Given the description of an element on the screen output the (x, y) to click on. 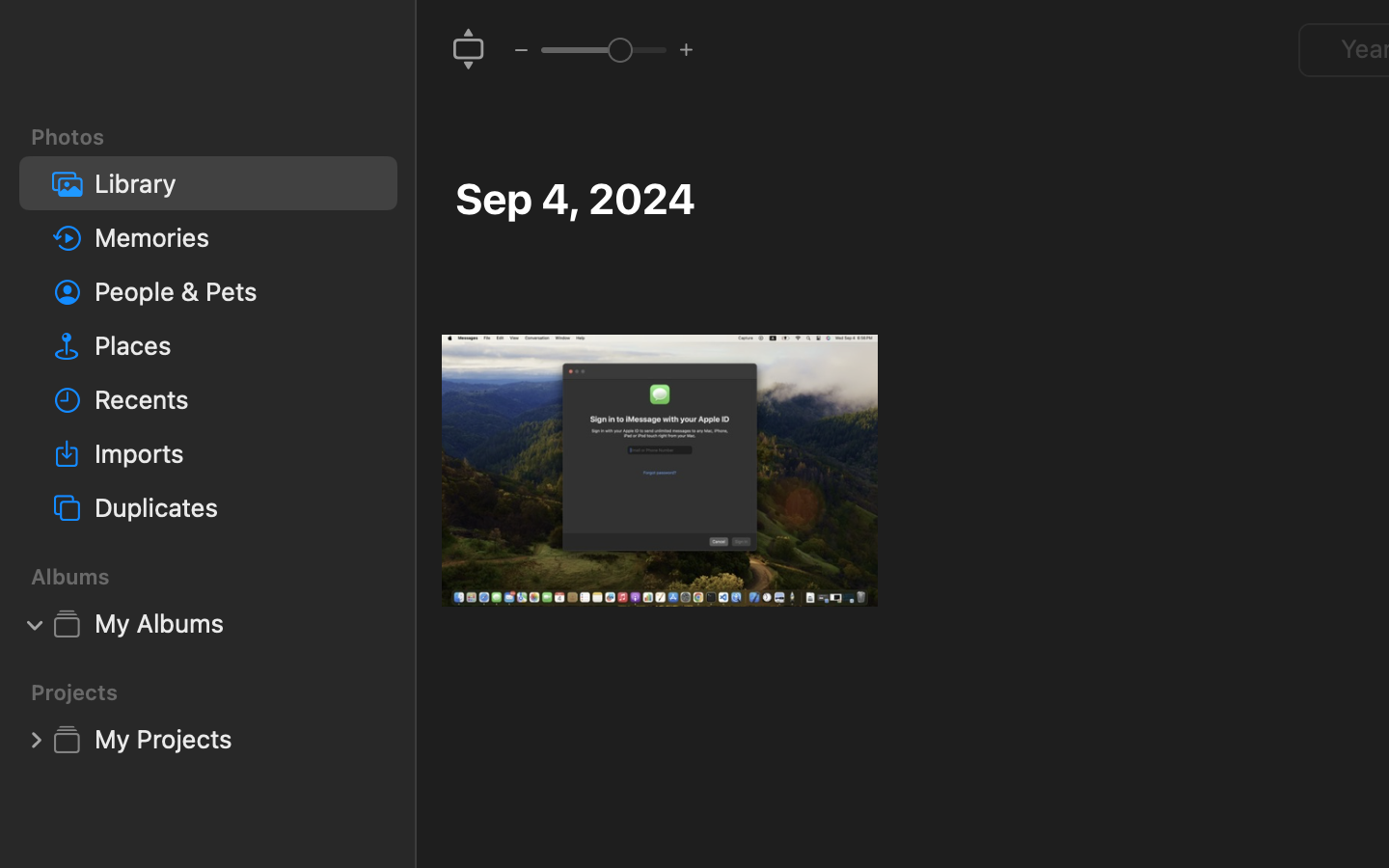
Projects Element type: AXStaticText (219, 691)
Albums Element type: AXStaticText (219, 576)
Memories Element type: AXStaticText (237, 236)
Library Element type: AXStaticText (237, 182)
1 Element type: AXDisclosureTriangle (35, 623)
